Given the description of an element on the screen output the (x, y) to click on. 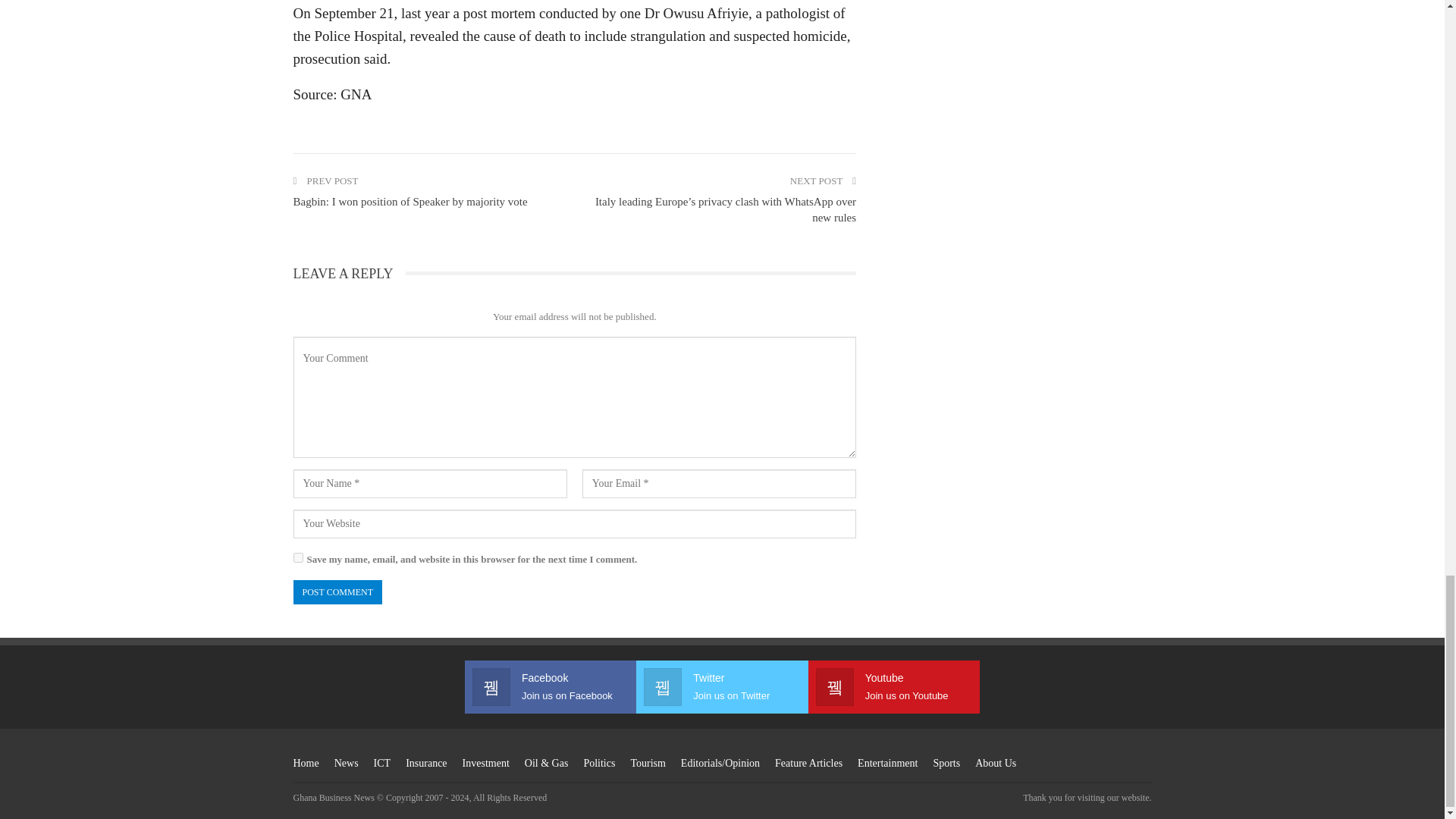
Bagbin: I won position of Speaker by majority vote (409, 201)
Post Comment (336, 592)
yes (297, 557)
